Given the description of an element on the screen output the (x, y) to click on. 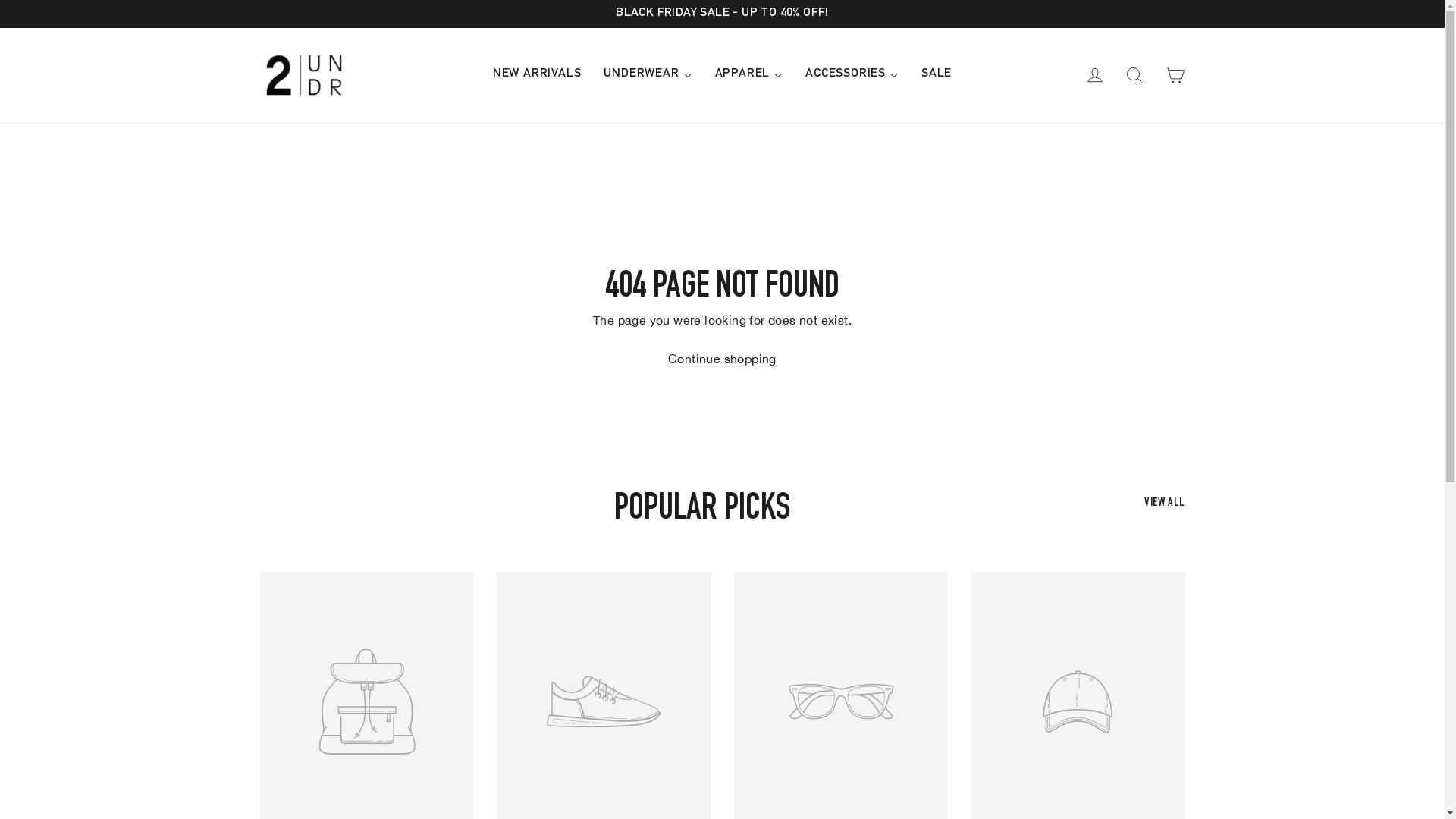
APPAREL Element type: text (748, 74)
Continue shopping Element type: text (722, 359)
LOG IN Element type: text (1094, 74)
NEW ARRIVALS Element type: text (537, 74)
UNDERWEAR Element type: text (647, 74)
ACCESSORIES Element type: text (851, 74)
Skip to content Element type: text (0, 0)
CART Element type: text (1173, 74)
SEARCH Element type: text (1134, 74)
BLACK FRIDAY SALE - UP TO 40% OFF! Element type: text (722, 14)
SALE Element type: text (936, 74)
VIEW ALL Element type: text (1164, 501)
